Given the description of an element on the screen output the (x, y) to click on. 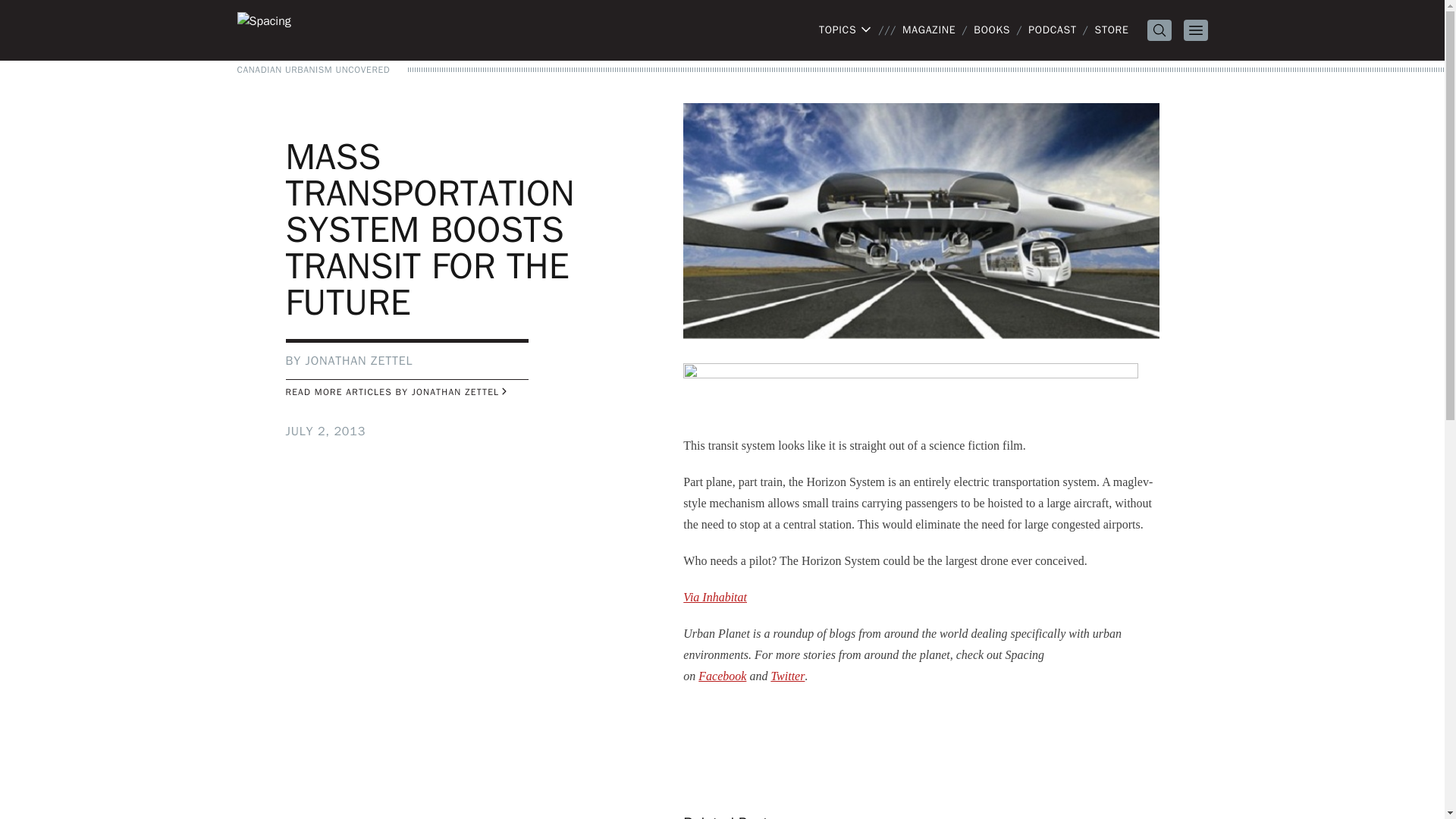
BOOKS (992, 29)
MAGAZINE (928, 29)
TOPICS (845, 29)
